Given the description of an element on the screen output the (x, y) to click on. 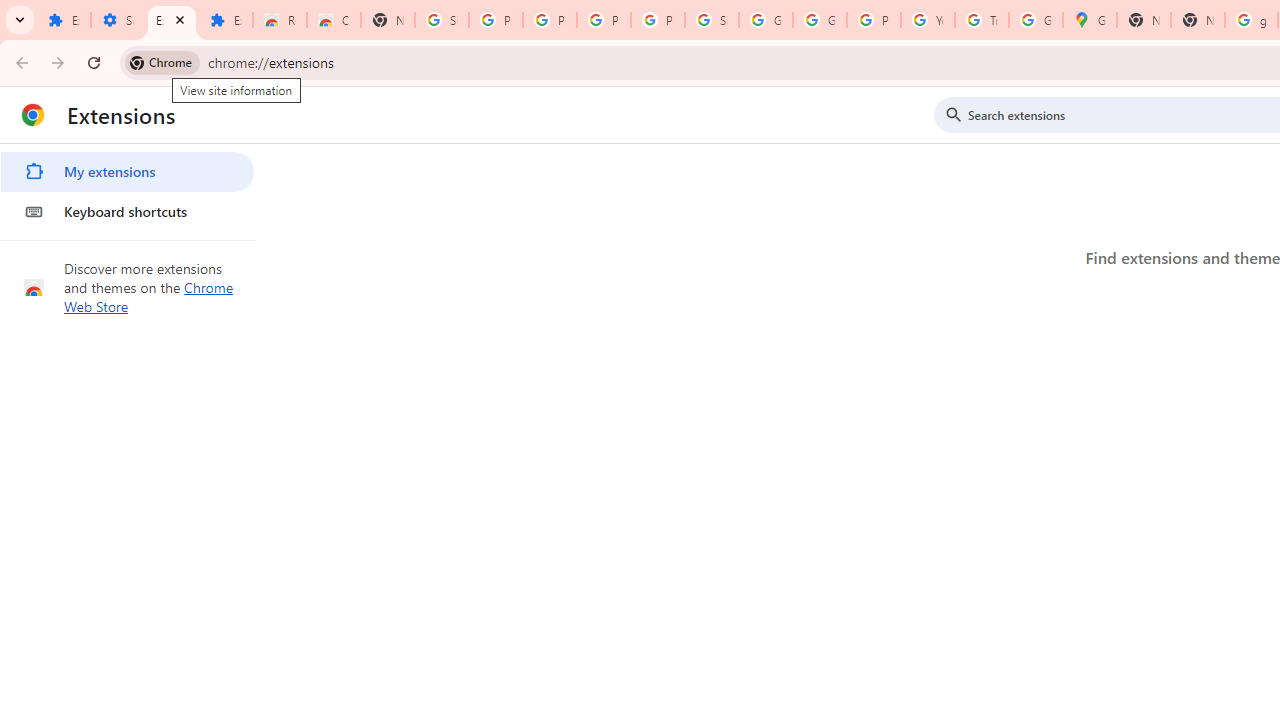
Extensions (171, 20)
Sign in - Google Accounts (441, 20)
New Tab (387, 20)
My extensions (127, 171)
New Tab (1197, 20)
